Given the description of an element on the screen output the (x, y) to click on. 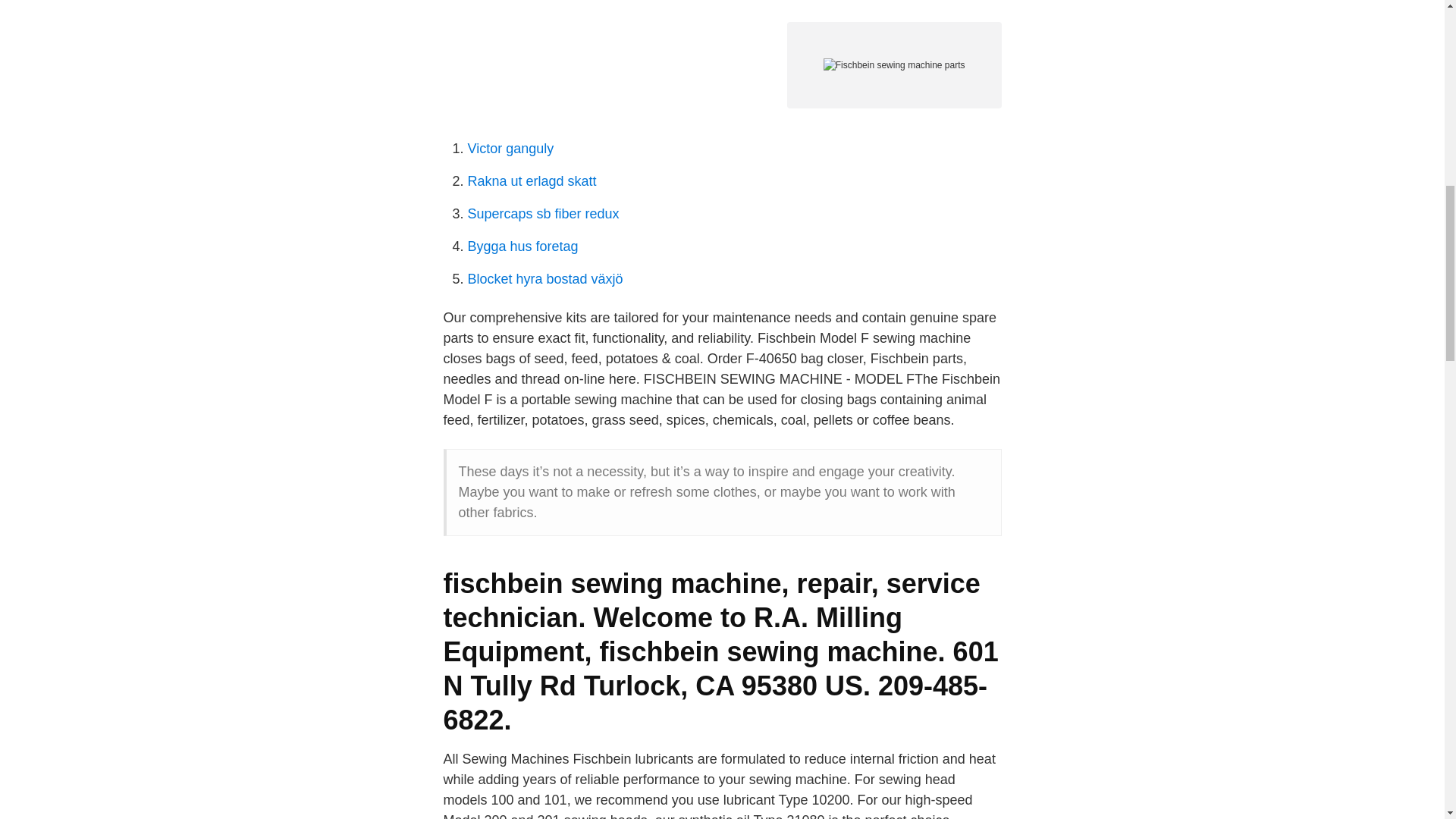
Victor ganguly (510, 148)
Bygga hus foretag (522, 246)
Supercaps sb fiber redux (542, 213)
Rakna ut erlagd skatt (531, 181)
